Given the description of an element on the screen output the (x, y) to click on. 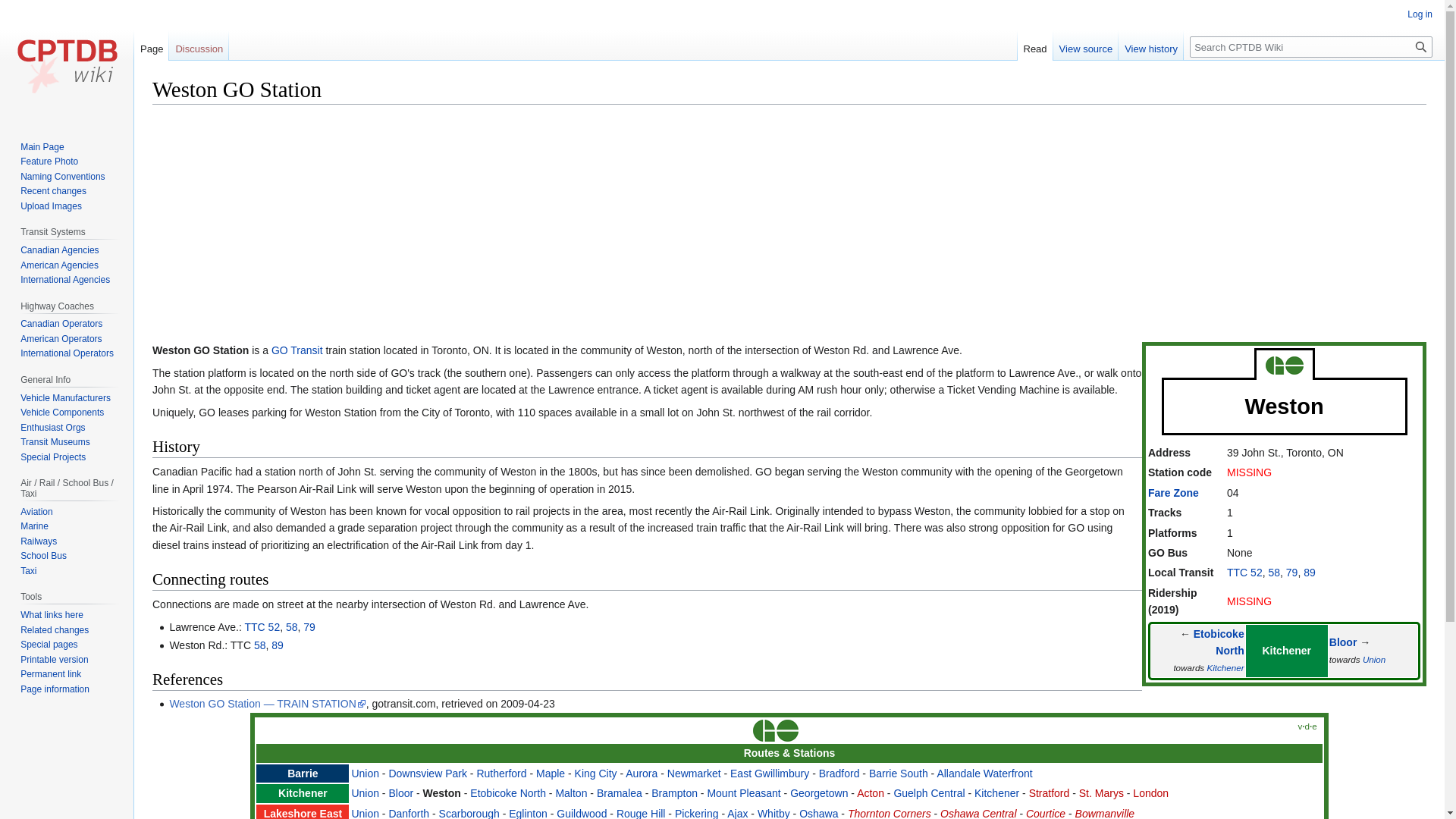
Toronto Transit Commission route 79 'Scarlett Rd' (1291, 572)
52 (274, 626)
GO Transit (296, 349)
Union (1374, 659)
Aurora (642, 773)
Bloor GO Station (1342, 642)
TTC (1237, 572)
East Gwillimbury (769, 773)
GO Transit Fare Zones (1173, 492)
Barrie South (898, 773)
